Given the description of an element on the screen output the (x, y) to click on. 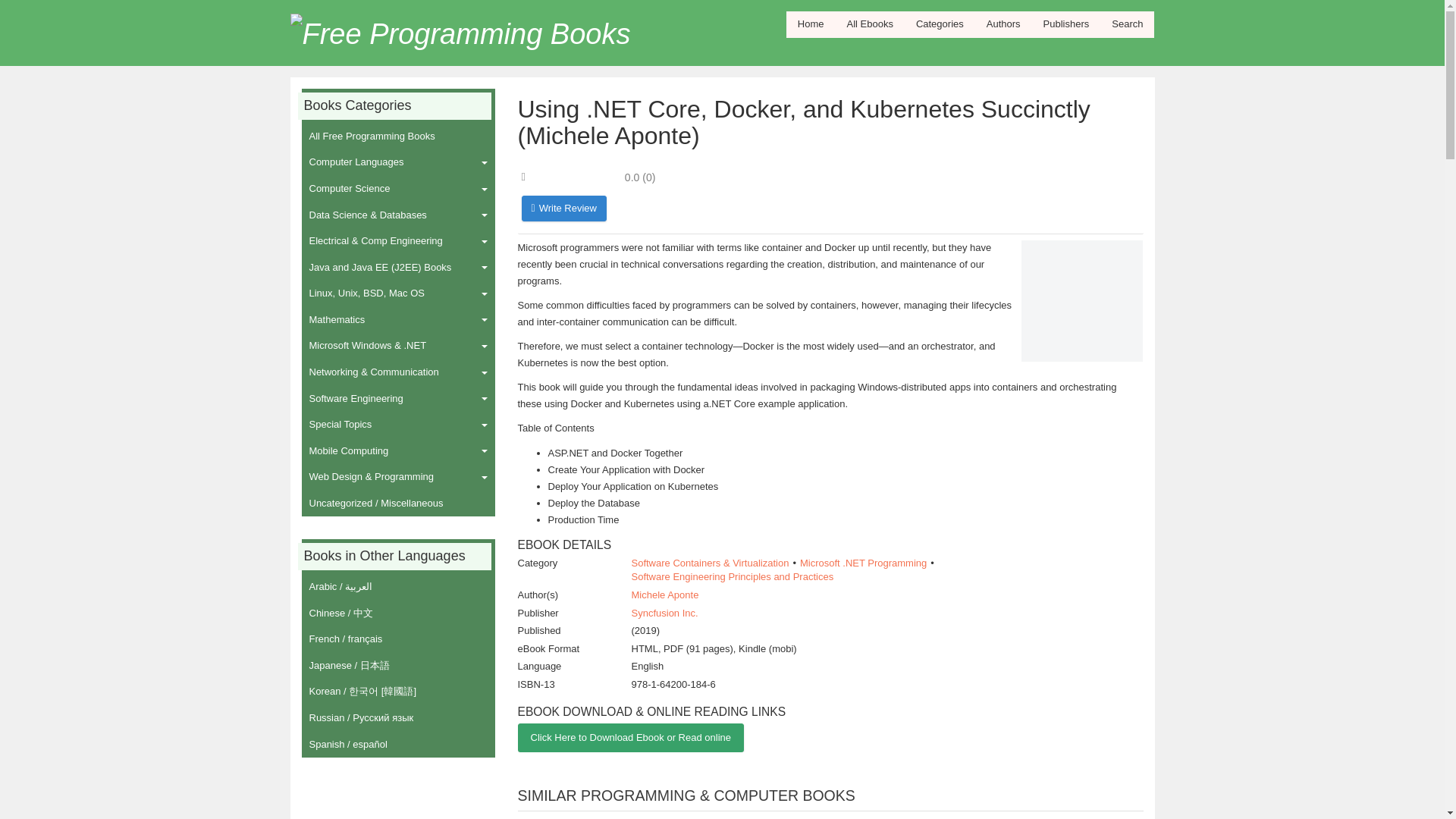
All Ebooks (869, 24)
Publishers (1066, 24)
Syncfusion Inc. (663, 613)
Michele Aponte (664, 594)
Search (1127, 24)
Click Here to Download Ebook or Read online (629, 737)
User rating (588, 176)
Write Review (564, 207)
Authors (1003, 24)
Microsoft .NET Programming (862, 562)
Home (810, 24)
Software Engineering Principles and Practices (731, 576)
Categories (939, 24)
